Given the description of an element on the screen output the (x, y) to click on. 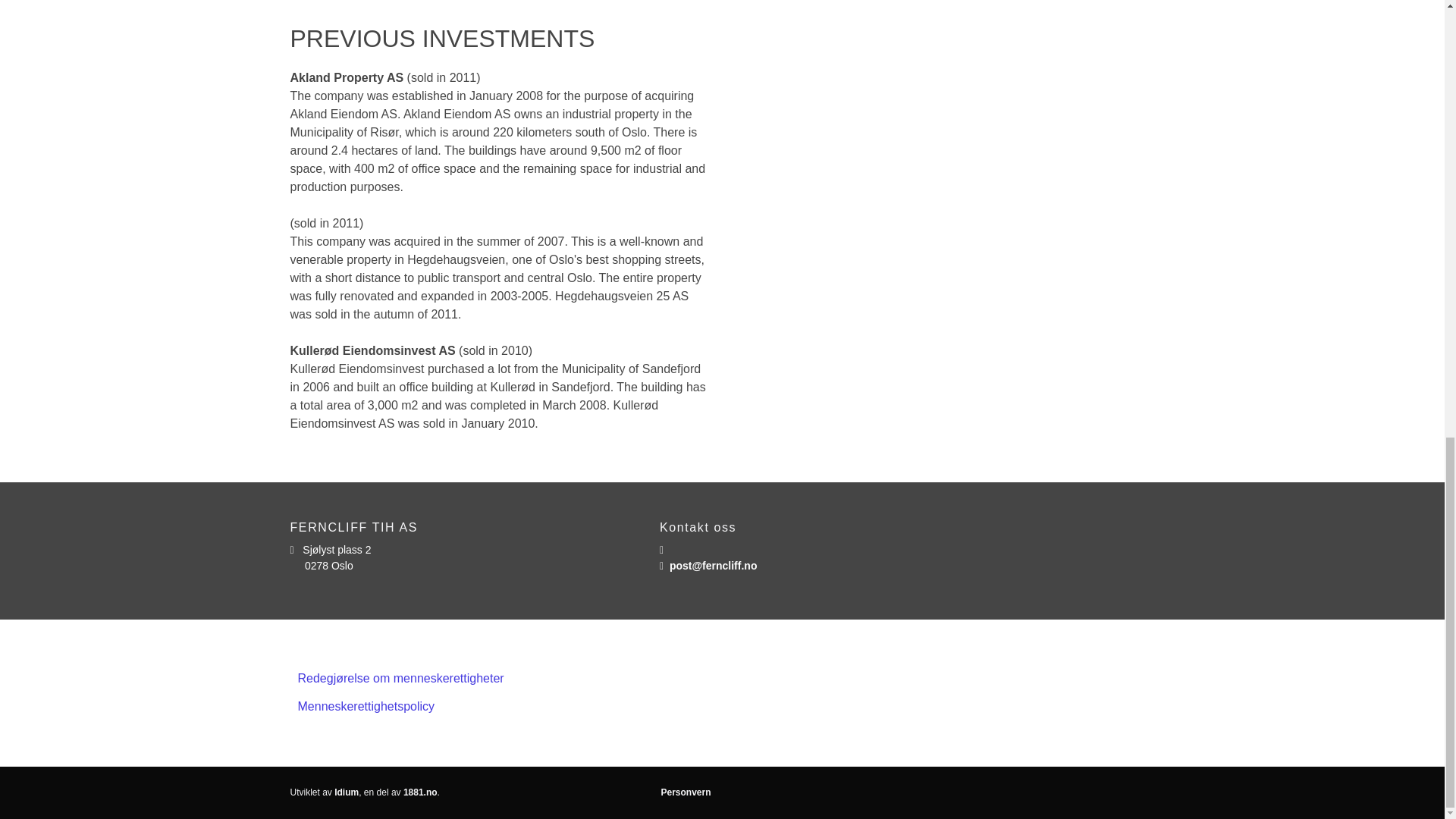
Menneskerettighetspolicy (721, 706)
1881.no (420, 792)
Personvern (685, 792)
Idium (346, 792)
